Given the description of an element on the screen output the (x, y) to click on. 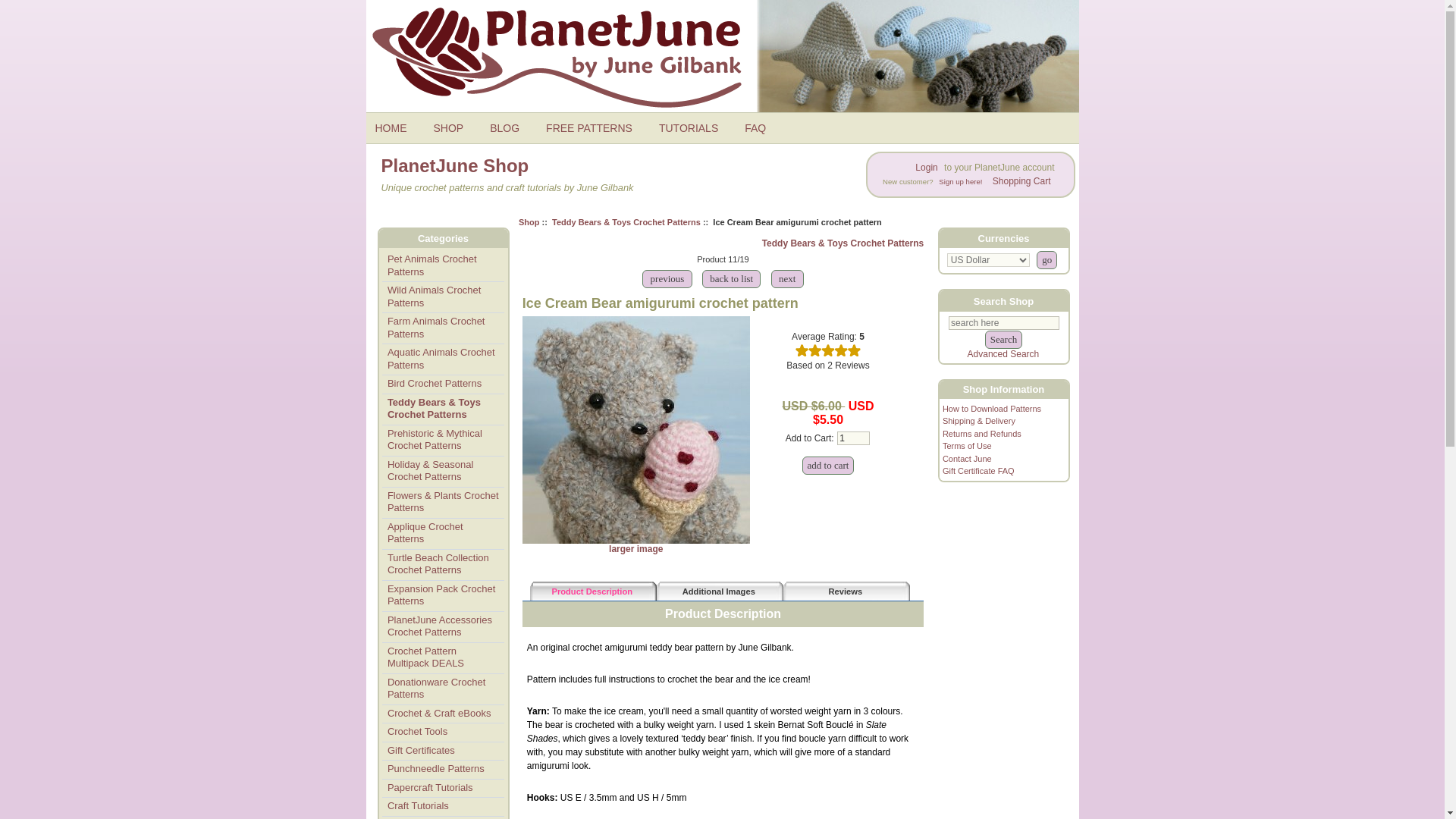
larger image (635, 544)
Login (925, 167)
add to cart (828, 465)
FAQ (760, 127)
Product Description (592, 591)
 next  (787, 278)
Ice Cream Bear amigurumi crochet pattern (635, 544)
SHOP (454, 127)
Sign up here! (959, 181)
 previous  (667, 278)
Shop (529, 221)
Search (1003, 339)
5 of 5 Stars! (827, 350)
BLOG (509, 127)
FREE PATTERNS (594, 127)
